Given the description of an element on the screen output the (x, y) to click on. 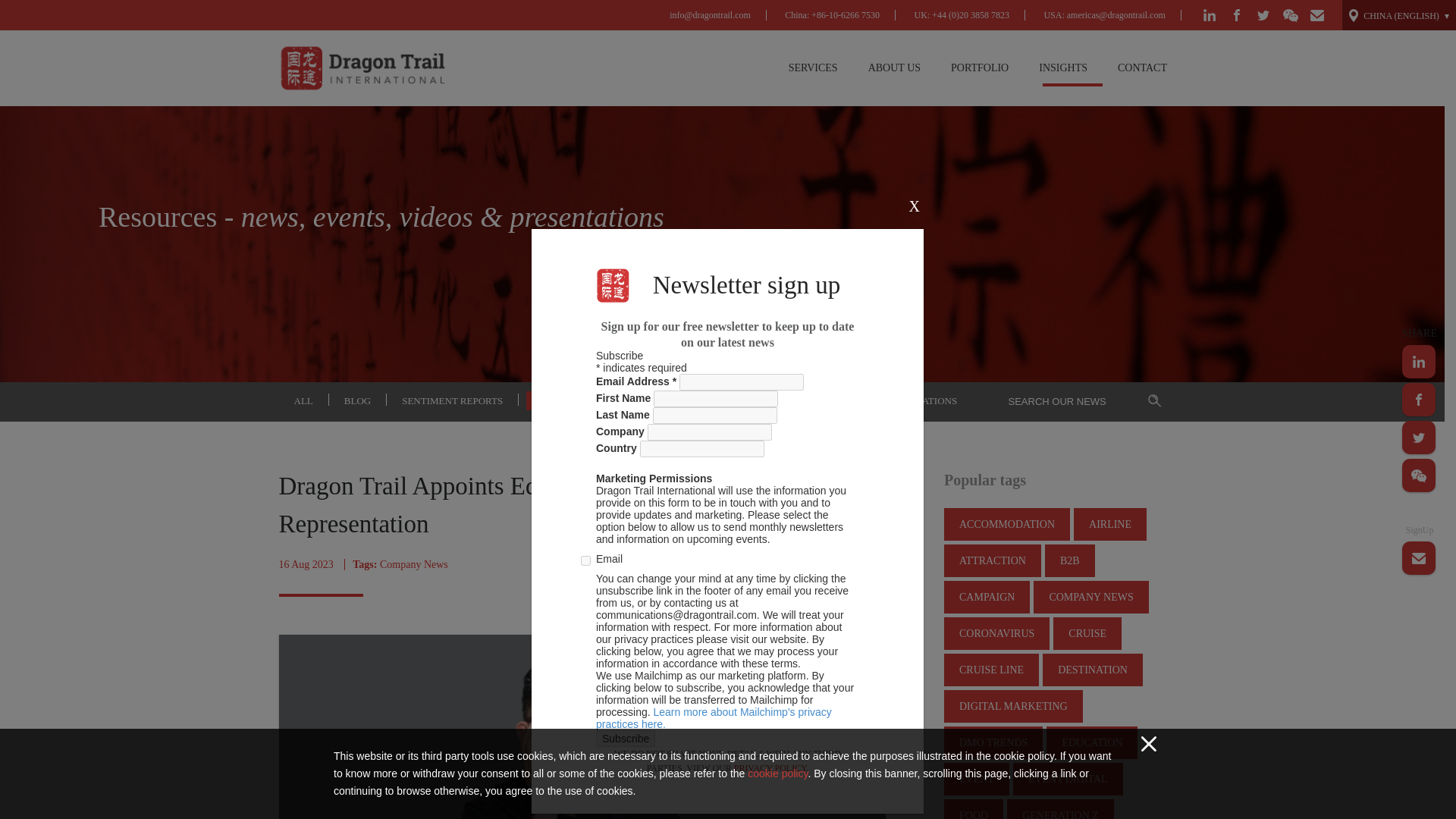
ABOUT US (894, 68)
Subscribe (625, 738)
INSIGHTS (1062, 68)
Y (585, 560)
ALL (303, 400)
CONTACT (1142, 68)
PORTFOLIO (979, 68)
SERVICES (813, 68)
